Given the description of an element on the screen output the (x, y) to click on. 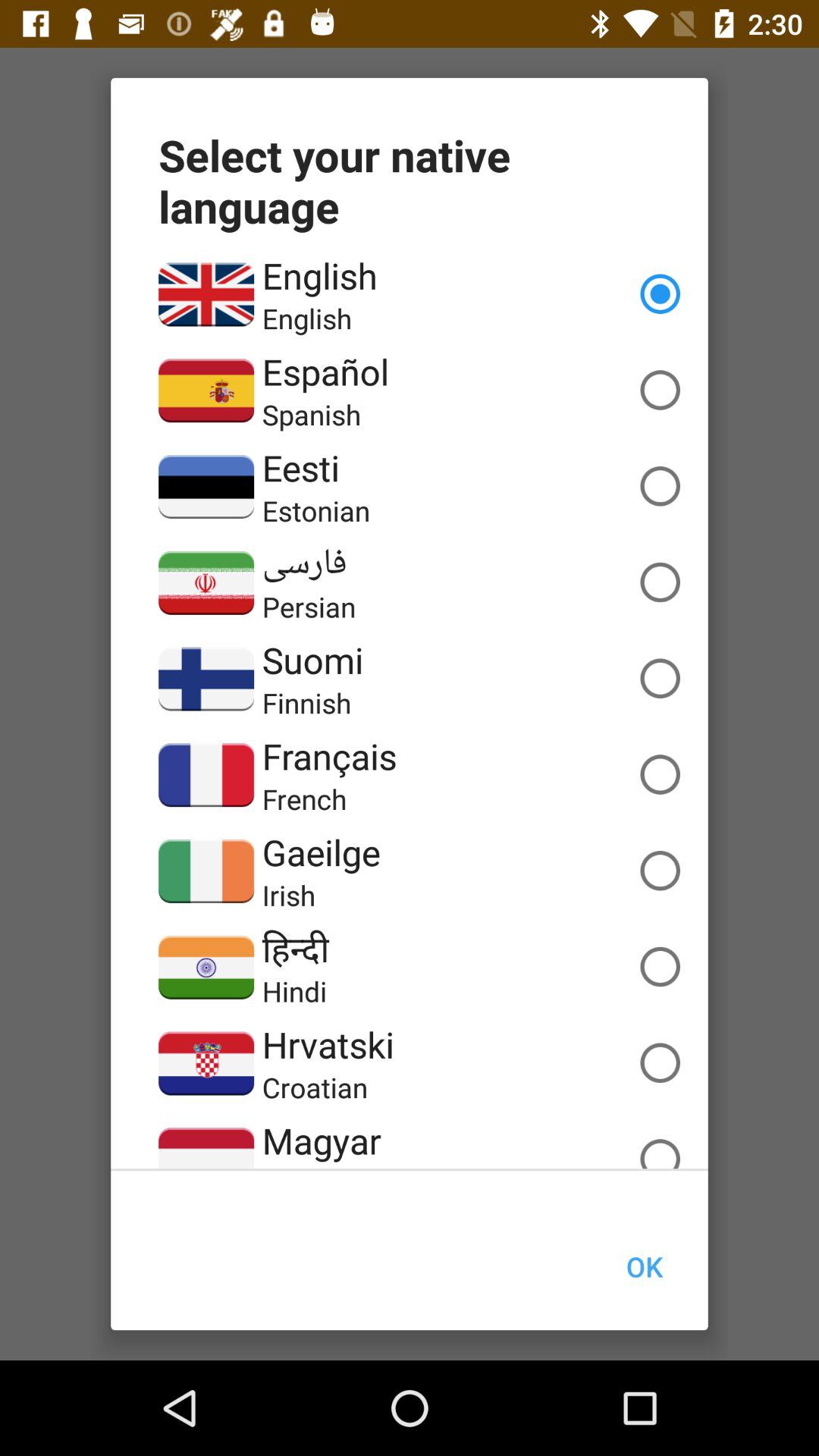
scroll until eesti app (300, 467)
